Given the description of an element on the screen output the (x, y) to click on. 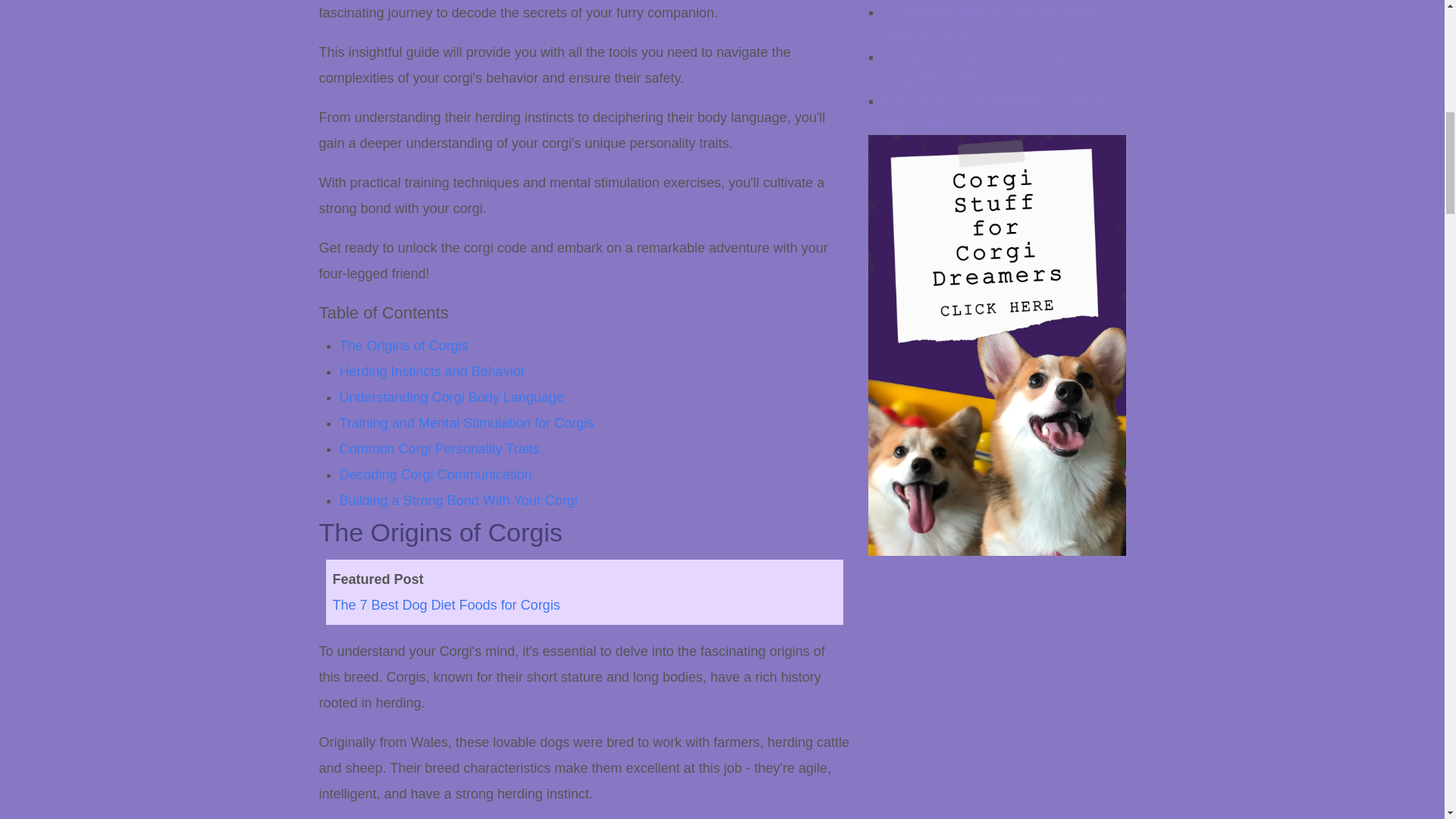
Training and Mental Stimulation for Corgis (466, 422)
11 Reasons Why You Should Never Adopt a Corgi (988, 22)
Building a Strong Bond With Your Corgi (458, 500)
Common Corgi Personality Traits (439, 448)
Decoding Corgi Communication (435, 474)
15 Facts You Need to Know about the Corgi Pitbull Mix (994, 67)
Understanding Corgi Body Language (451, 396)
The 7 Best Dog Diet Foods for Corgis (445, 604)
Are Corgis Good With Kids? 5 Dangers and 3 Tips (999, 111)
Herding Instincts and Behavior (432, 371)
The Origins of Corgis (403, 345)
